Given the description of an element on the screen output the (x, y) to click on. 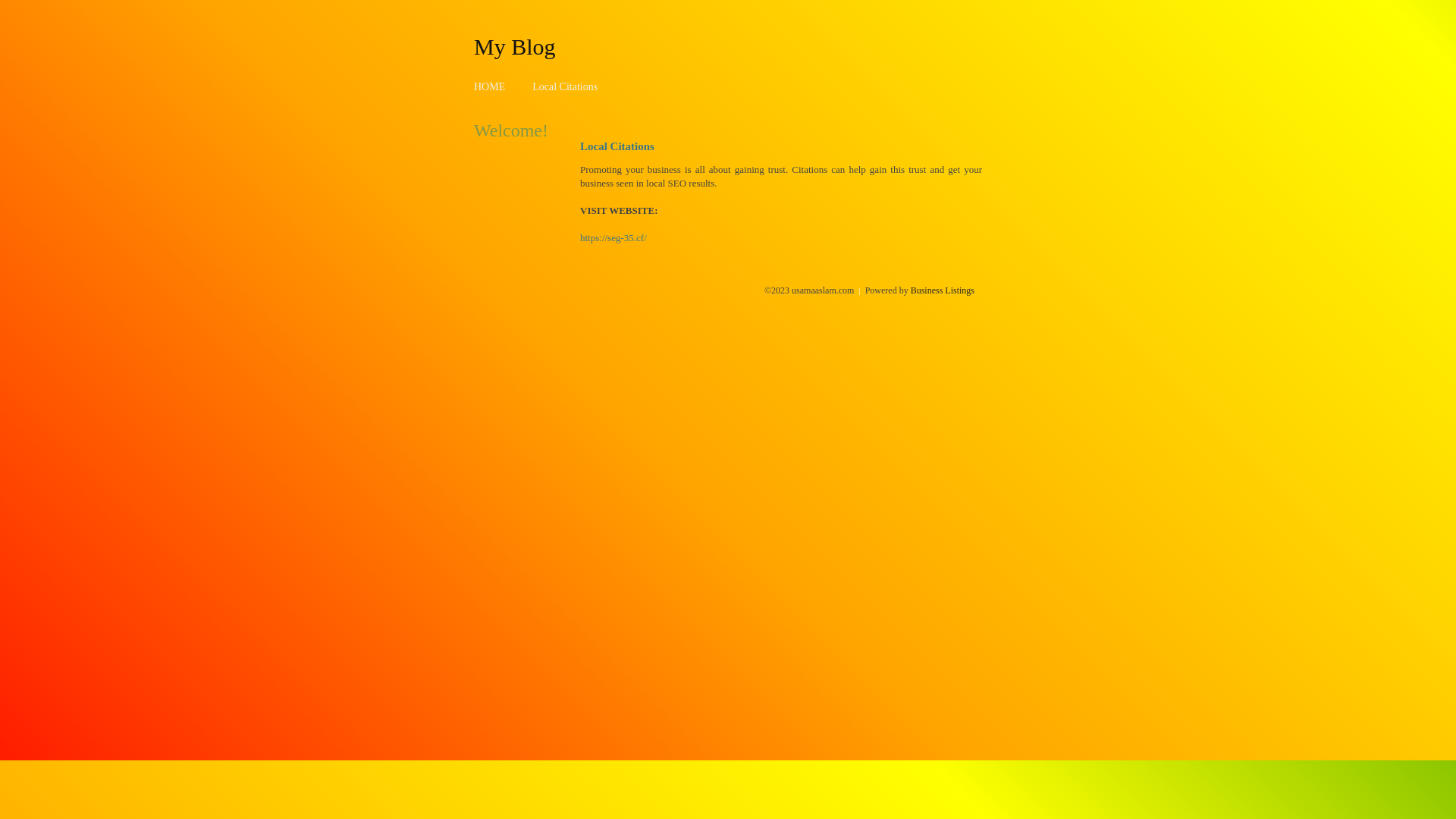
Local Citations Element type: text (564, 86)
HOME Element type: text (489, 86)
https://seg-35.cf/ Element type: text (613, 237)
My Blog Element type: text (514, 46)
Business Listings Element type: text (942, 290)
